Given the description of an element on the screen output the (x, y) to click on. 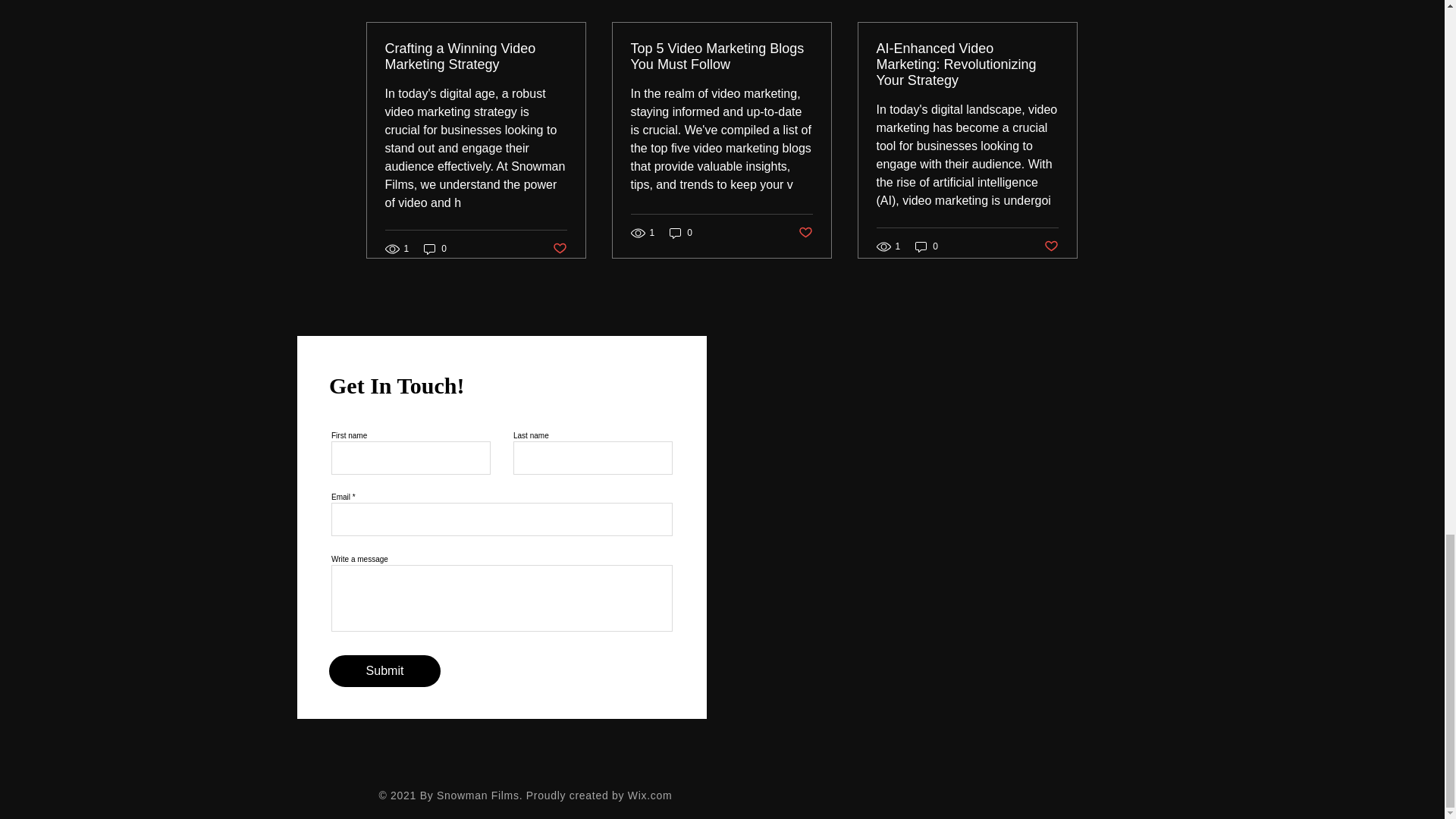
Post not marked as liked (1050, 246)
Wix.com (649, 795)
Crafting a Winning Video Marketing Strategy (476, 56)
Post not marked as liked (558, 248)
0 (435, 248)
Submit (385, 671)
AI-Enhanced Video Marketing: Revolutionizing Your Strategy (967, 64)
Post not marked as liked (804, 232)
Top 5 Video Marketing Blogs You Must Follow (721, 56)
See All (1061, 3)
0 (926, 246)
0 (681, 232)
